Given the description of an element on the screen output the (x, y) to click on. 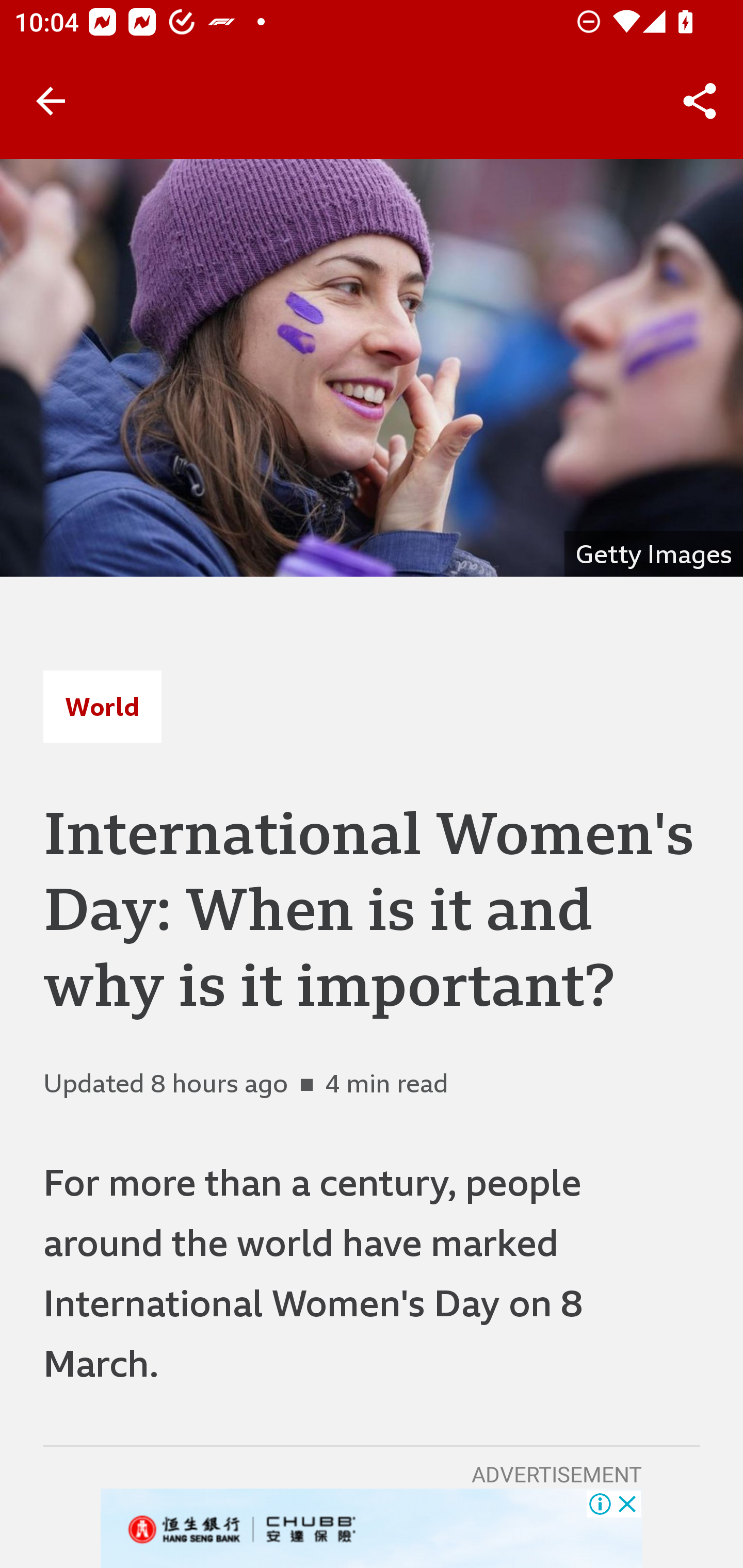
Back (50, 101)
Share (699, 101)
World (102, 706)
